Given the description of an element on the screen output the (x, y) to click on. 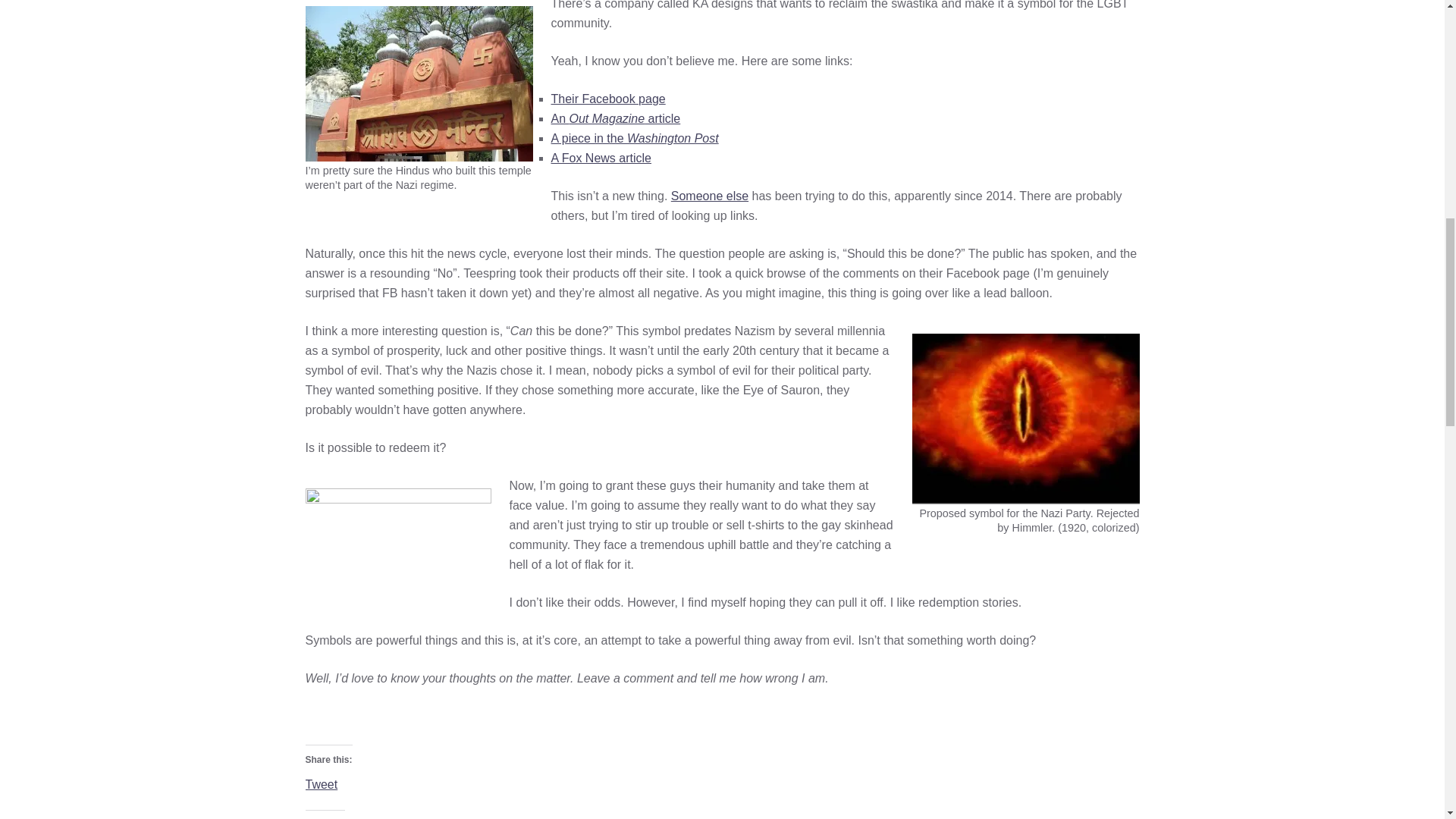
Their Facebook page (607, 98)
Someone else (709, 195)
A piece in the Washington Post (633, 137)
Tweet (320, 784)
An Out Magazine article (614, 118)
A Fox News article (600, 157)
